Given the description of an element on the screen output the (x, y) to click on. 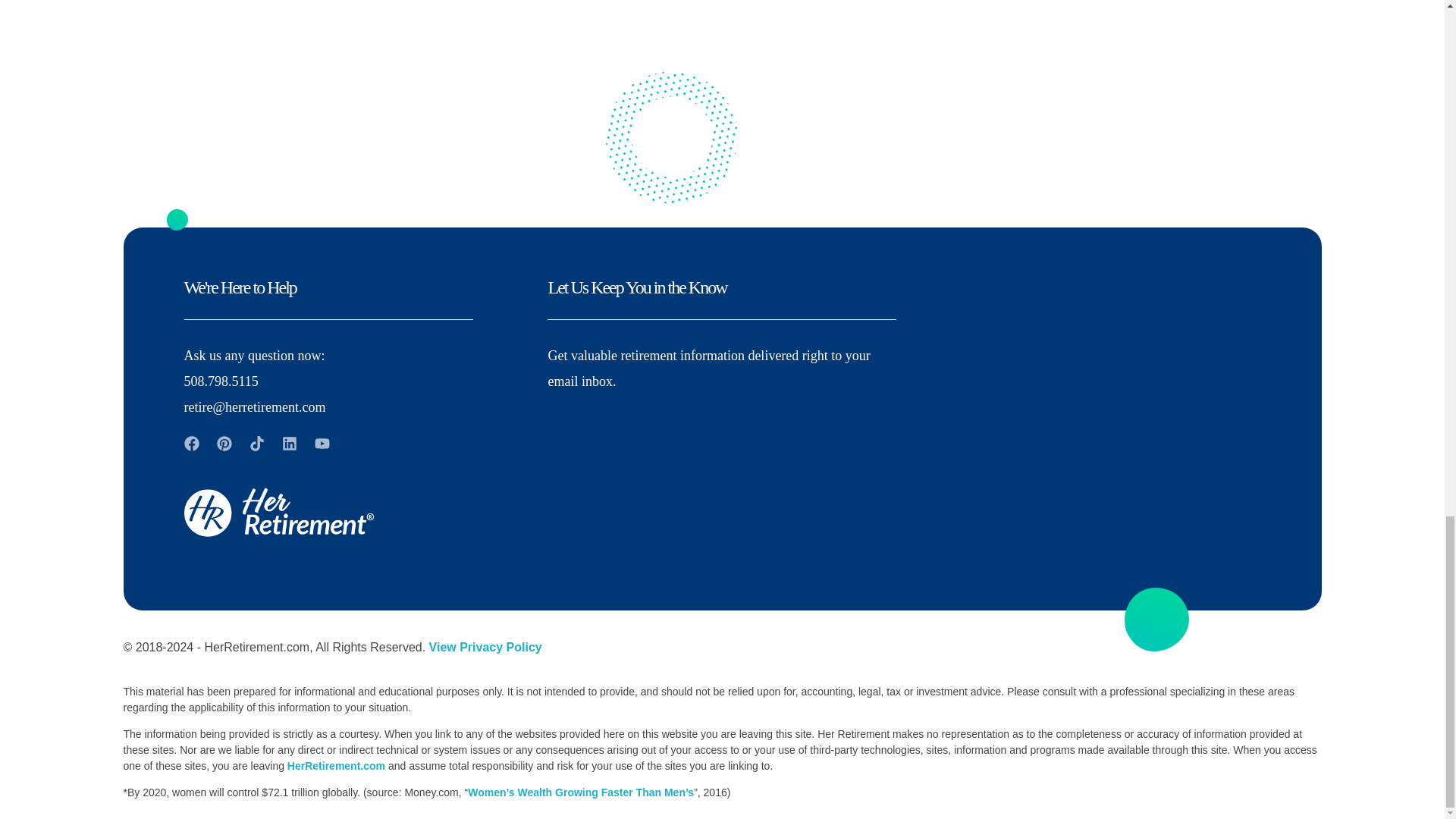
Path-1633 (1156, 619)
Group-570 (670, 137)
Path-1633 (176, 219)
